Given the description of an element on the screen output the (x, y) to click on. 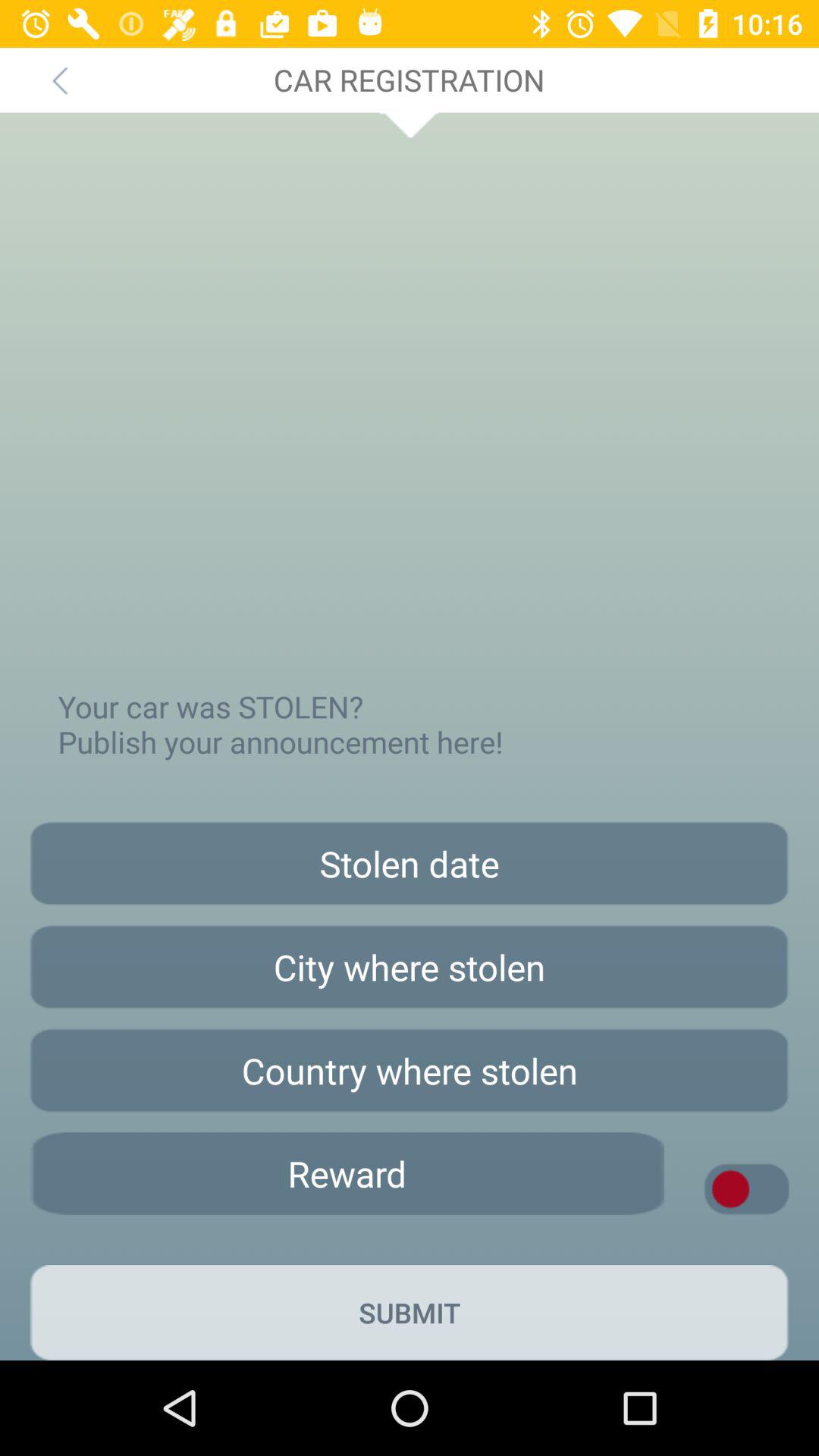
go back (59, 79)
